Given the description of an element on the screen output the (x, y) to click on. 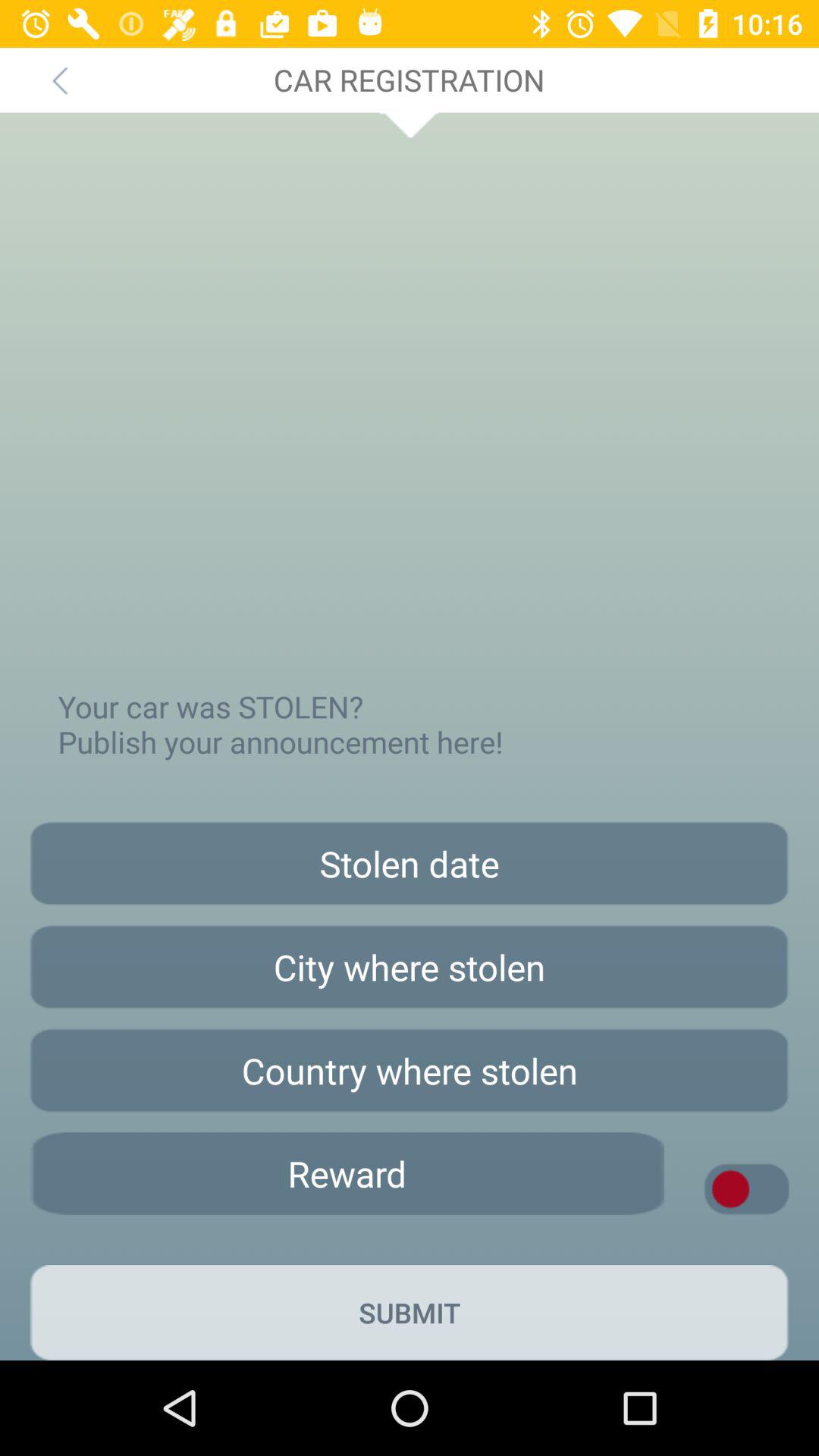
go back (59, 79)
